Given the description of an element on the screen output the (x, y) to click on. 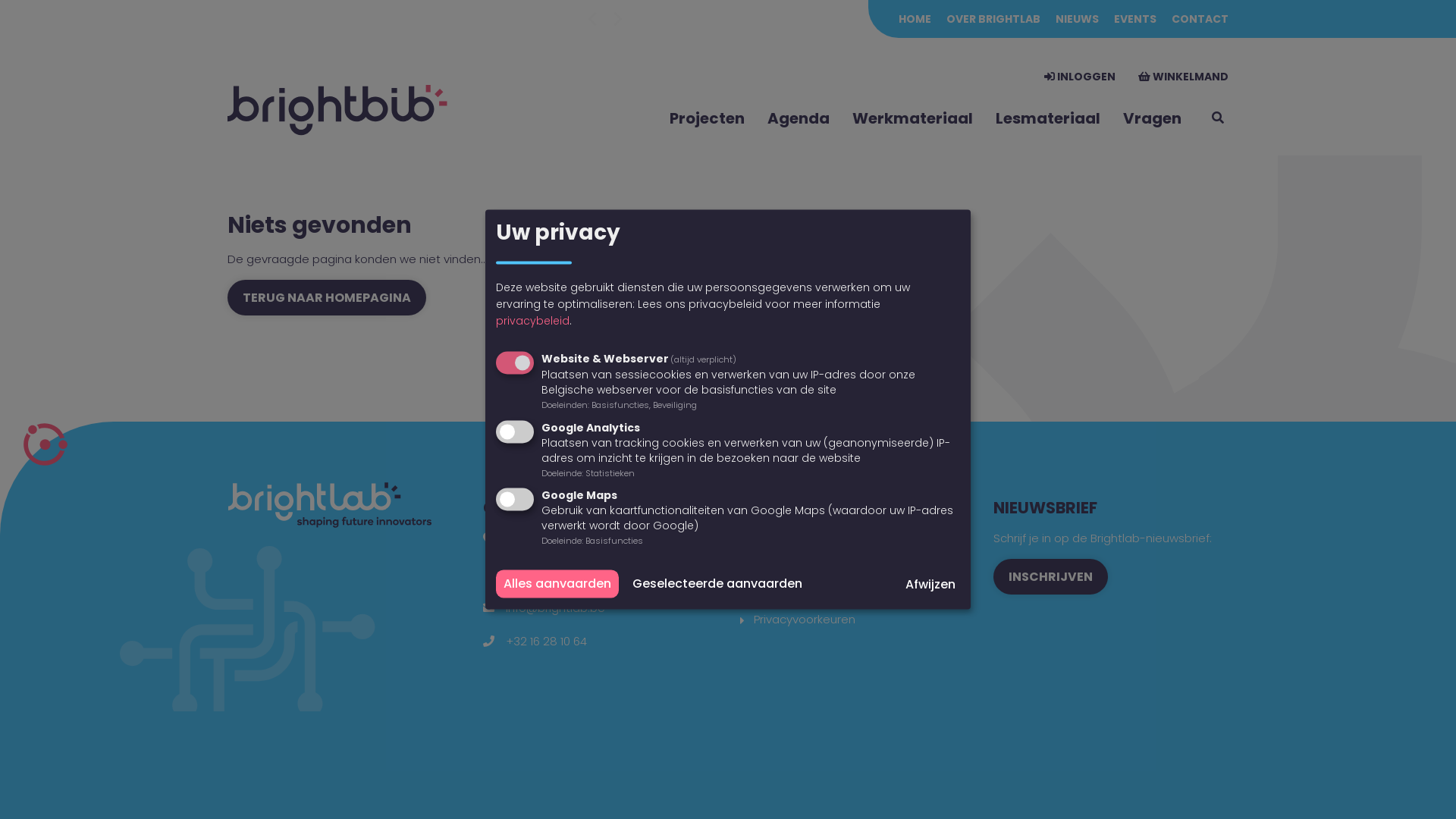
NIEUWS Element type: text (1076, 18)
+32 16 28 10 64 Element type: text (545, 641)
Contacteer ons Element type: text (798, 567)
Wettelijke informatie Element type: text (811, 593)
Vragen Element type: text (1152, 118)
Privacyvoorkeuren Element type: text (804, 619)
Alles aanvaarden Element type: text (556, 584)
WINKELMAND Element type: text (1183, 76)
INSCHRIJVEN Element type: text (1050, 576)
RVO-Society vzw (Brightlab)
Kapeldreef 75,
3001 Heverlee Element type: text (583, 556)
EVENTS Element type: text (1134, 18)
Naar de BrightLab website Element type: text (826, 541)
Geselecteerde aanvaarden Element type: text (716, 584)
TERUG NAAR HOMEPAGINA Element type: text (326, 297)
Agenda Element type: text (798, 118)
CONTACT Element type: text (1199, 18)
privacybeleid Element type: text (532, 321)
Werkmateriaal Element type: text (912, 118)
Lesmateriaal Element type: text (1047, 118)
Afwijzen Element type: text (930, 584)
HOME Element type: text (914, 18)
OVER BRIGHTLAB Element type: text (993, 18)
Projecten Element type: text (706, 118)
INLOGGEN Element type: text (1079, 76)
To the homepage Element type: hover (341, 110)
info@brightlab.be Element type: text (555, 607)
